Given the description of an element on the screen output the (x, y) to click on. 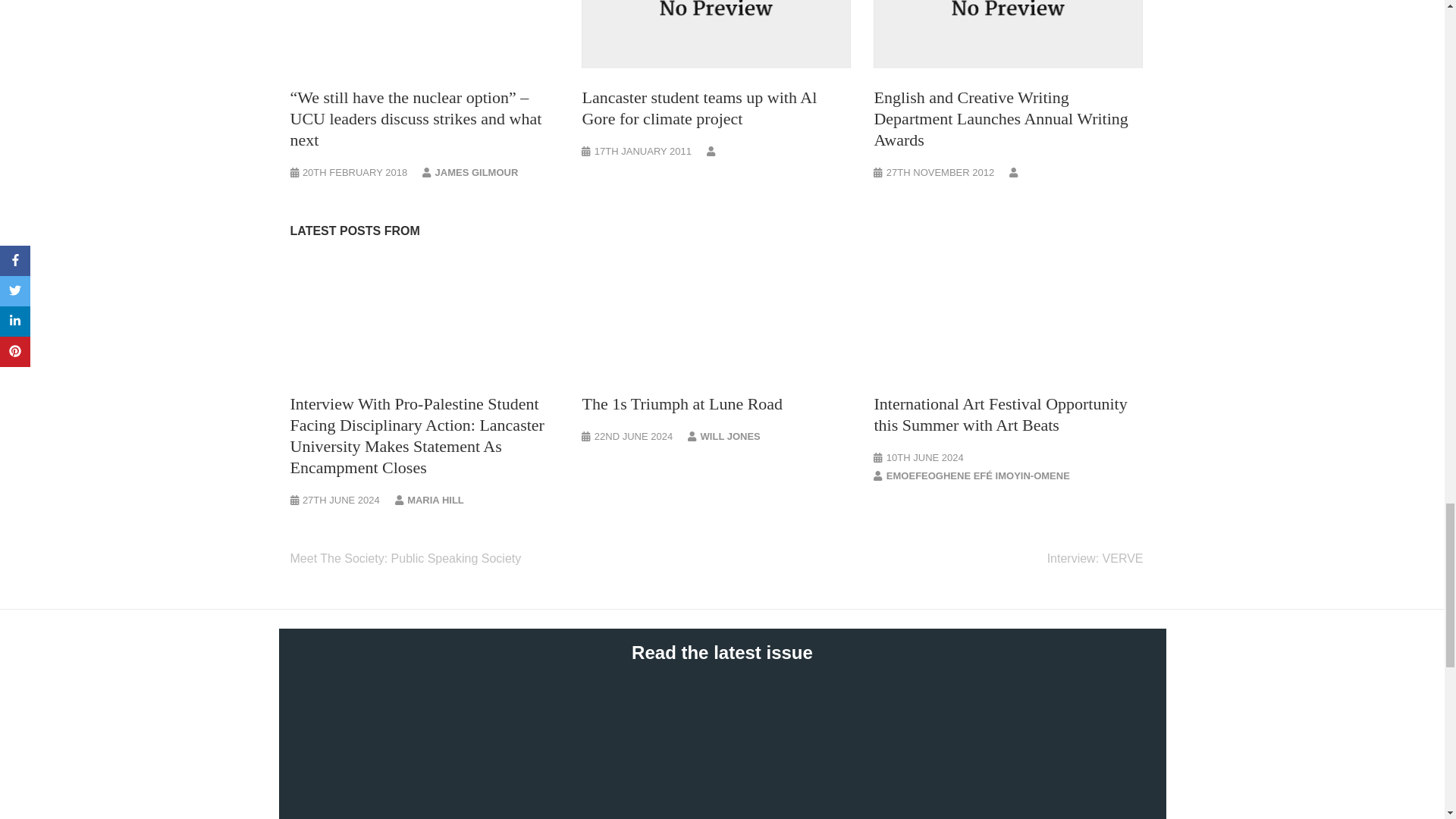
20TH FEBRUARY 2018 (354, 172)
